Given the description of an element on the screen output the (x, y) to click on. 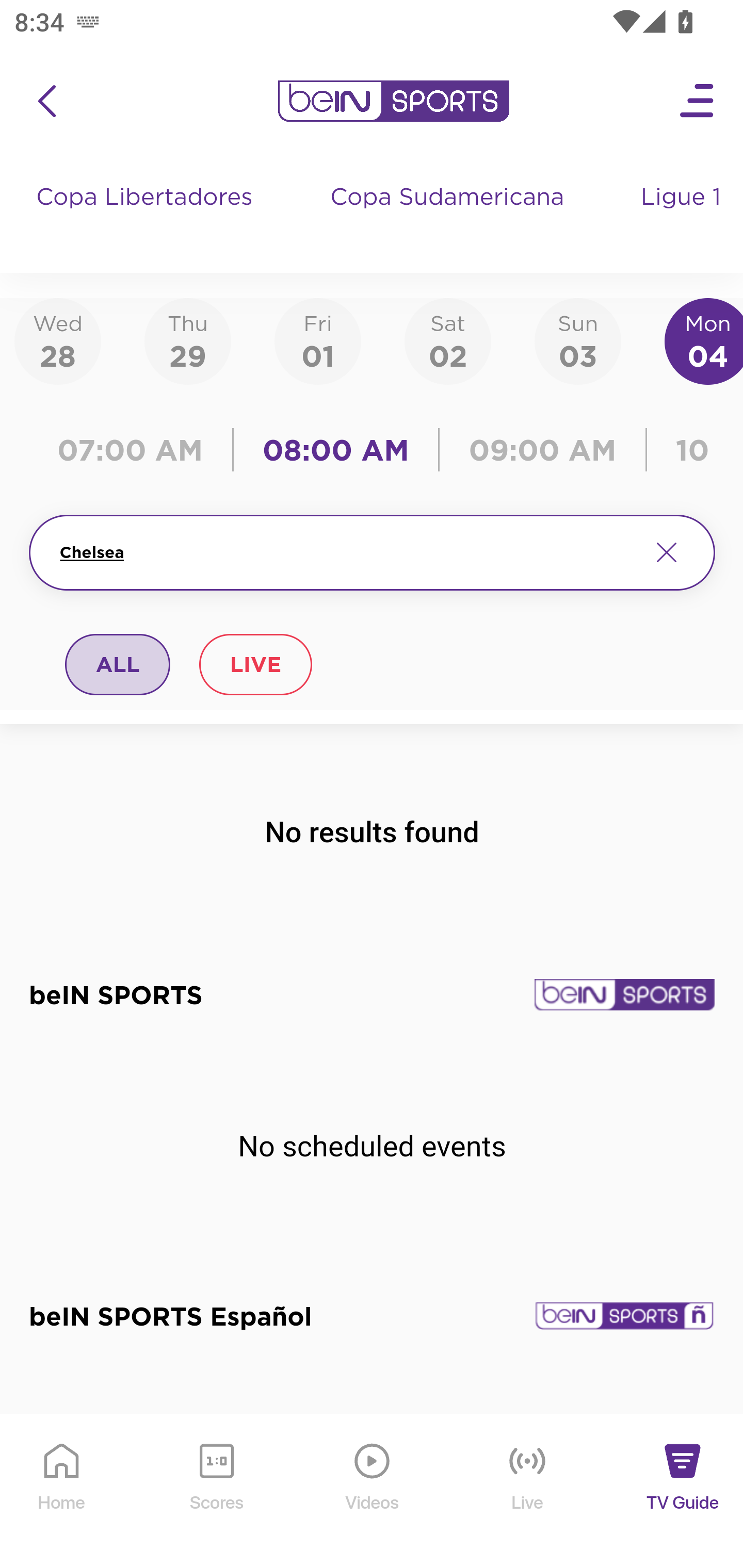
en-us?platform=mobile_android bein logo (392, 101)
icon back (46, 101)
Open Menu Icon (697, 101)
Copa Libertadores (146, 216)
Copa Sudamericana (448, 216)
Ligue 1 (682, 216)
Wed28 (58, 340)
Thu29 (187, 340)
Fri01 (318, 340)
Sat02 (447, 340)
Sun03 (578, 340)
Mon04 (703, 340)
07:00 AM (135, 449)
08:00 AM (336, 449)
09:00 AM (542, 449)
Chelsea (346, 552)
ALL (118, 663)
LIVE (255, 663)
Home Home Icon Home (61, 1491)
Scores Scores Icon Scores (216, 1491)
Videos Videos Icon Videos (372, 1491)
TV Guide TV Guide Icon TV Guide (682, 1491)
